Given the description of an element on the screen output the (x, y) to click on. 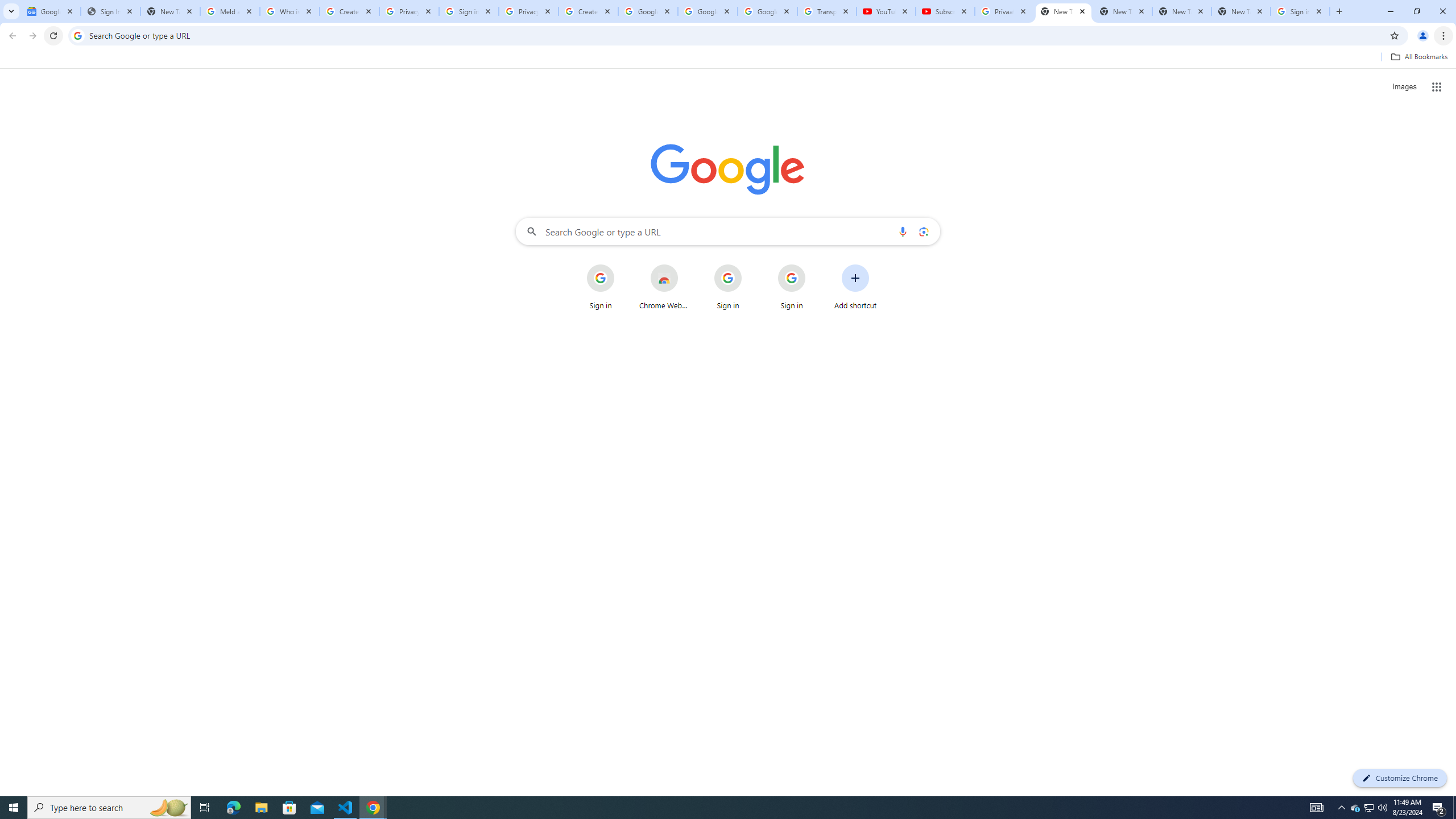
More actions for Sign in shortcut (814, 265)
Create your Google Account (349, 11)
